Given the description of an element on the screen output the (x, y) to click on. 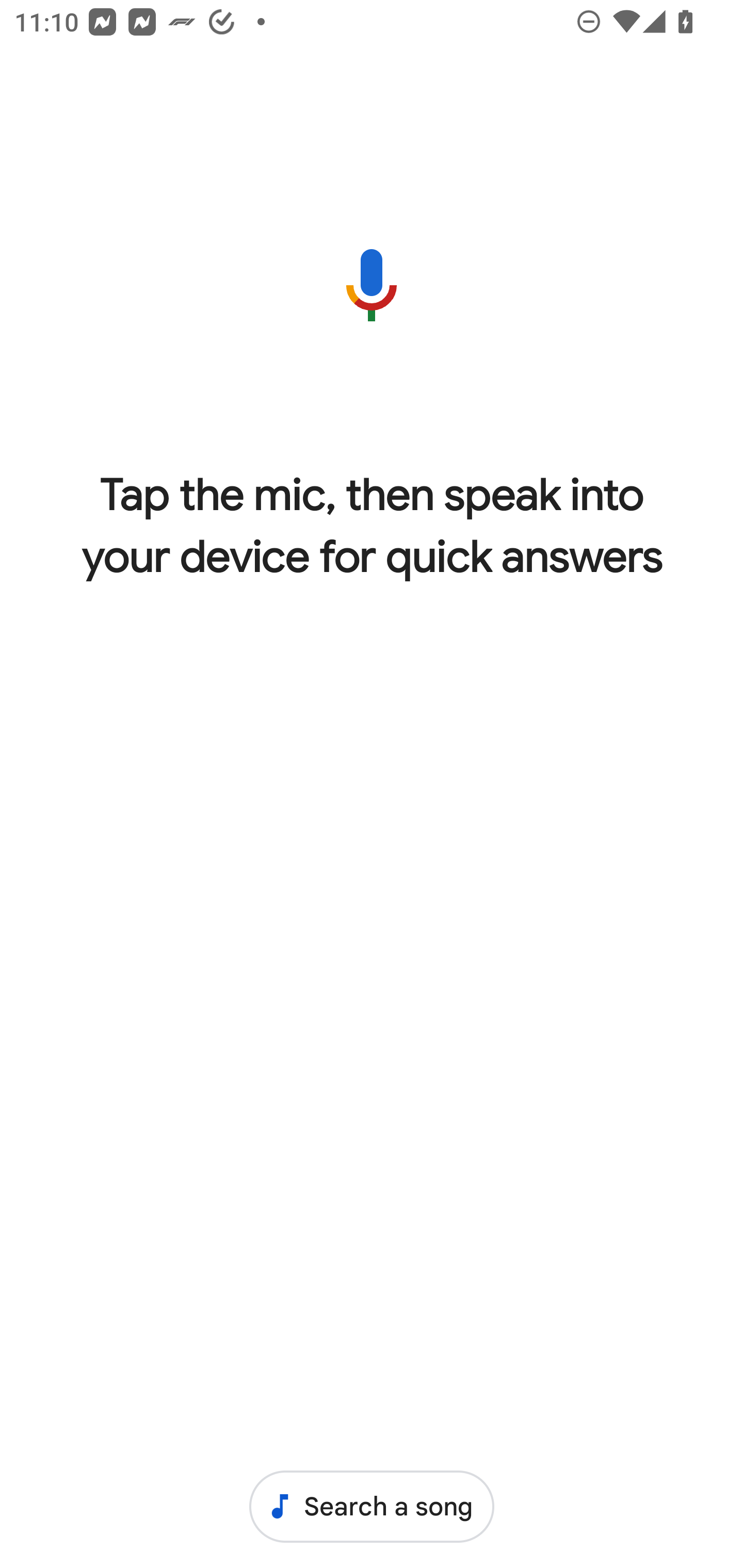
Search a song (371, 1505)
